Given the description of an element on the screen output the (x, y) to click on. 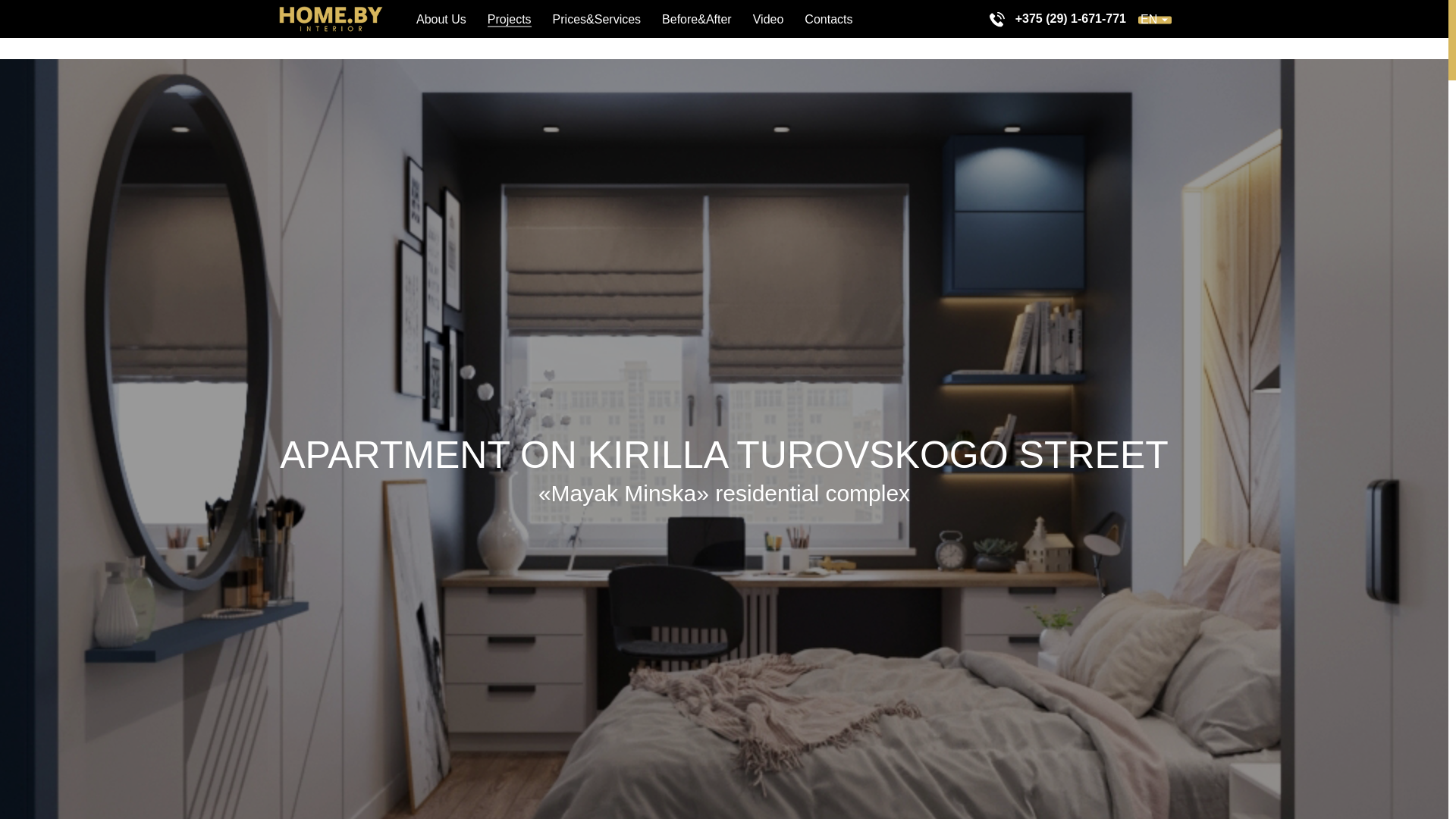
About Us Element type: text (440, 19)
EN Element type: text (1154, 20)
Before&After Element type: text (696, 19)
Contacts Element type: text (827, 19)
Prices&Services Element type: text (596, 19)
Projects Element type: text (509, 19)
Video Element type: text (768, 19)
+375 (29) 1-671-771 Element type: text (1070, 19)
